Given the description of an element on the screen output the (x, y) to click on. 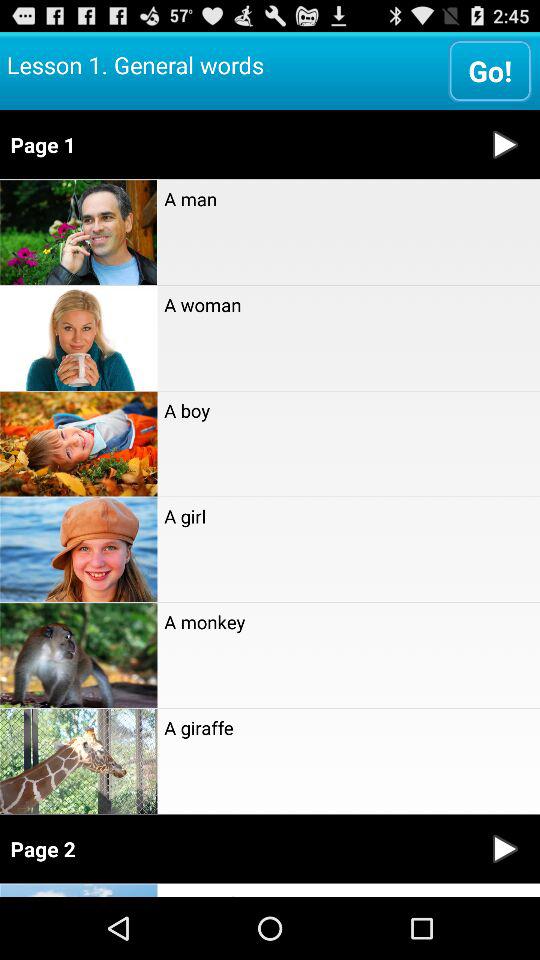
scroll until the to stand (348, 890)
